Given the description of an element on the screen output the (x, y) to click on. 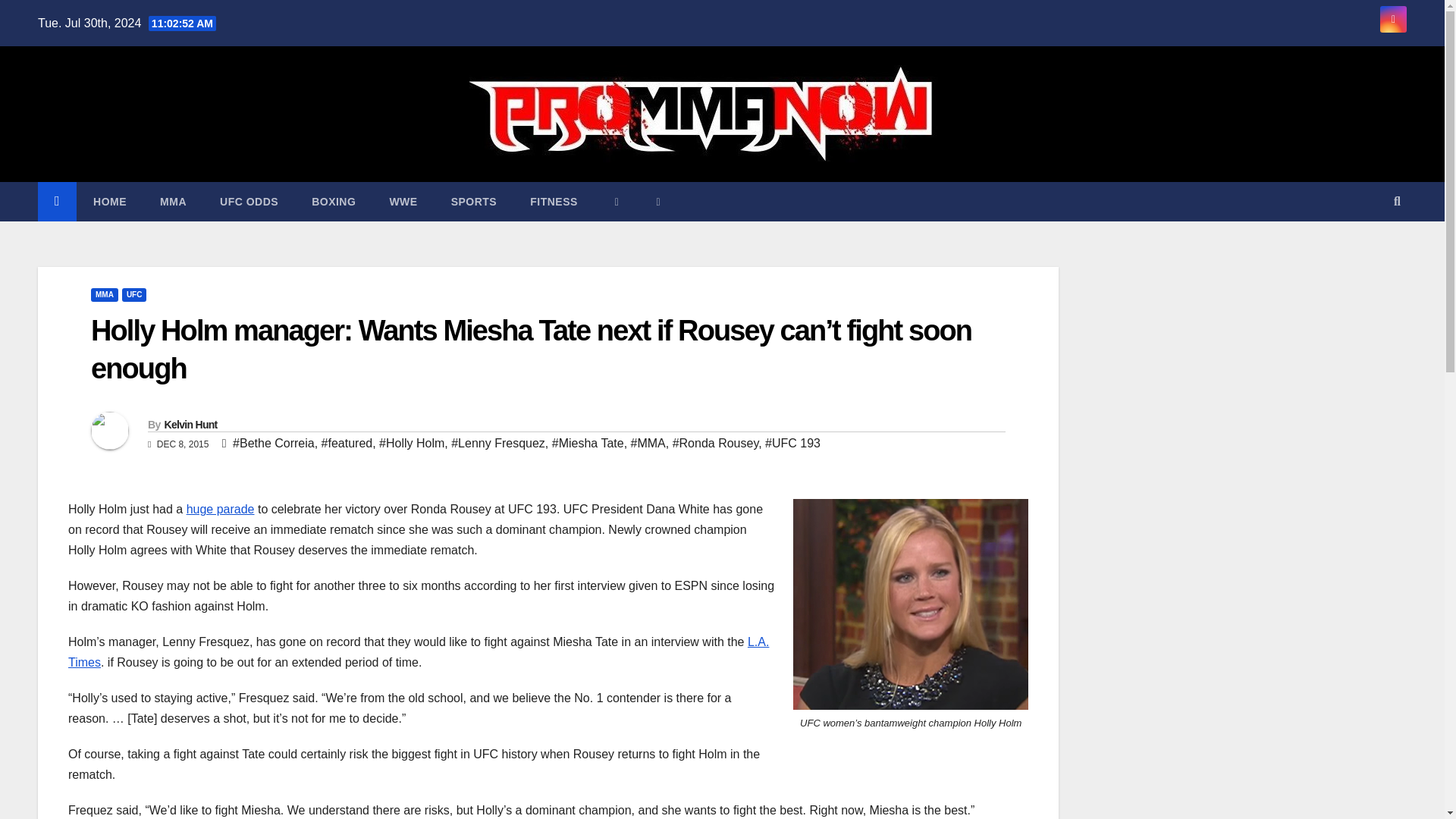
Boxing (333, 201)
MMA (172, 201)
SPORTS (473, 201)
UFC (134, 295)
FITNESS (553, 201)
MMA (172, 201)
Home (109, 201)
MMA (103, 295)
UFC Odds (249, 201)
BOXING (333, 201)
Fitness (553, 201)
L.A. Times (418, 652)
WWE (402, 201)
Kelvin Hunt (189, 424)
HOME (109, 201)
